Given the description of an element on the screen output the (x, y) to click on. 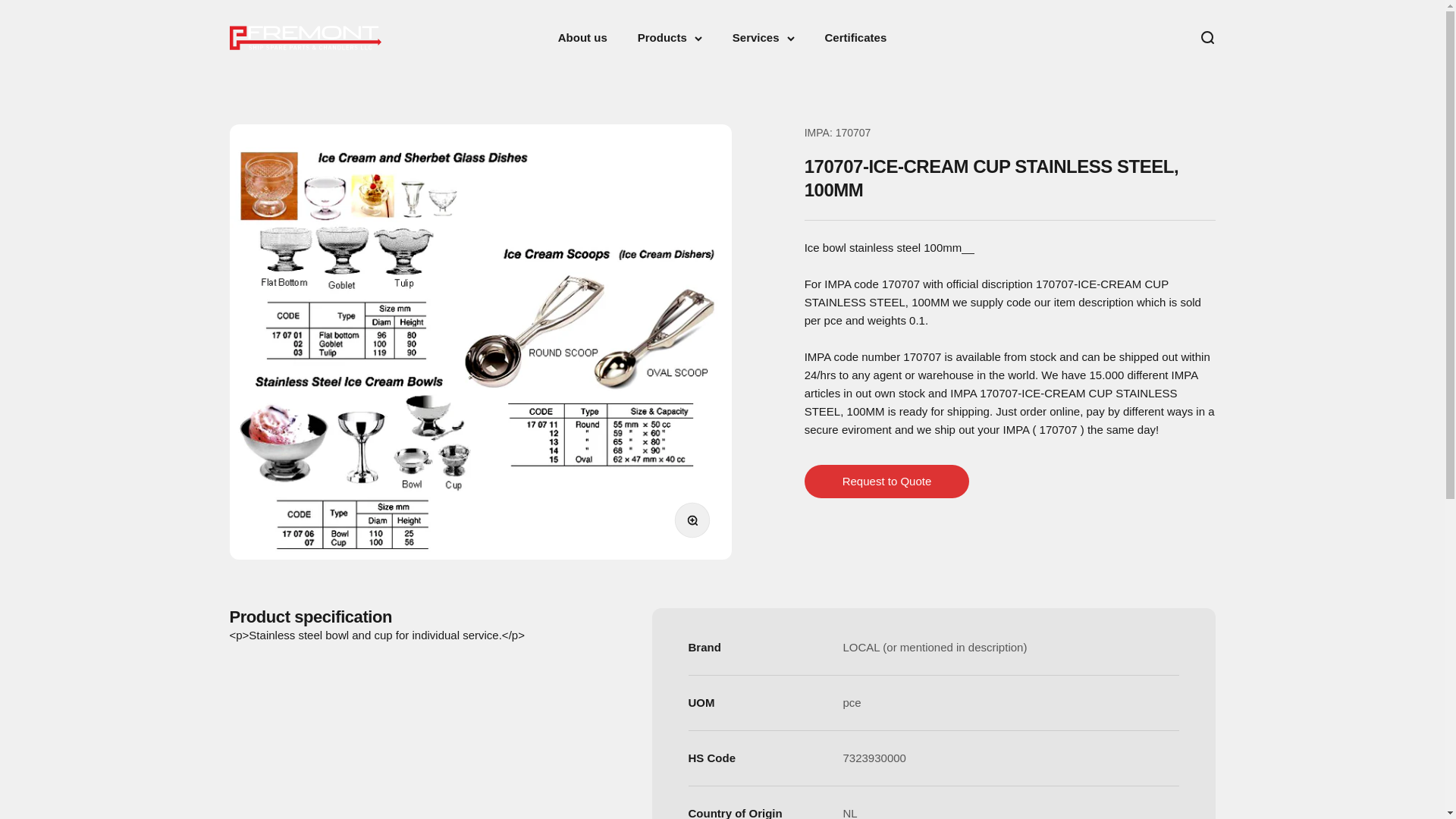
About us (582, 37)
Certificates (855, 37)
Fremont (304, 37)
Open search (1206, 37)
